Given the description of an element on the screen output the (x, y) to click on. 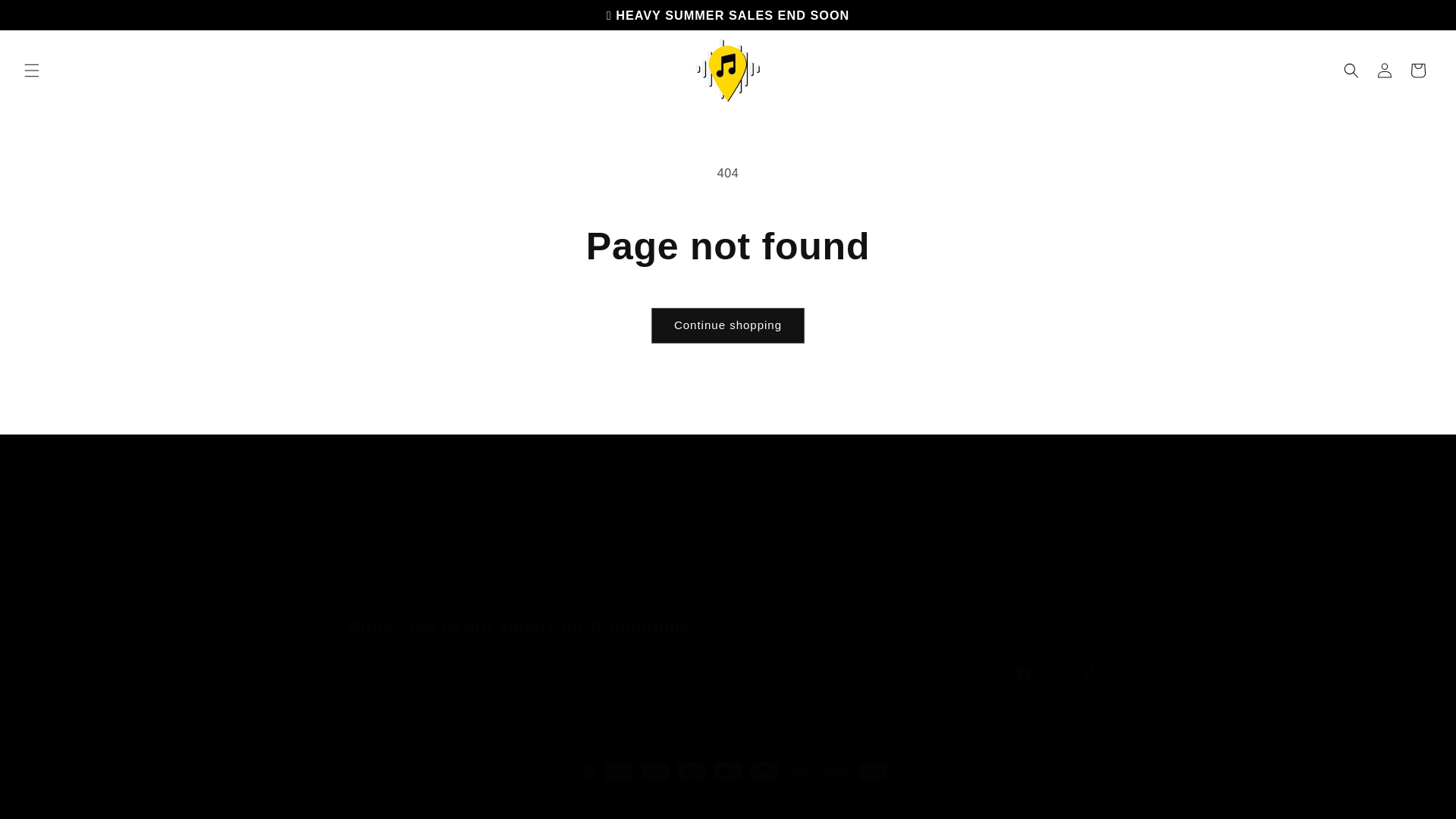
Continue shopping (727, 325)
Terms of Service (901, 596)
Musicomplit (408, 798)
Instagram (1057, 672)
Powered by Shopify (479, 798)
Log in (1384, 70)
Skip to content (45, 17)
TikTok (1090, 672)
Facebook (1024, 672)
Refund Policy (982, 552)
Privacy Policy (894, 569)
Cart (895, 544)
